Given the description of an element on the screen output the (x, y) to click on. 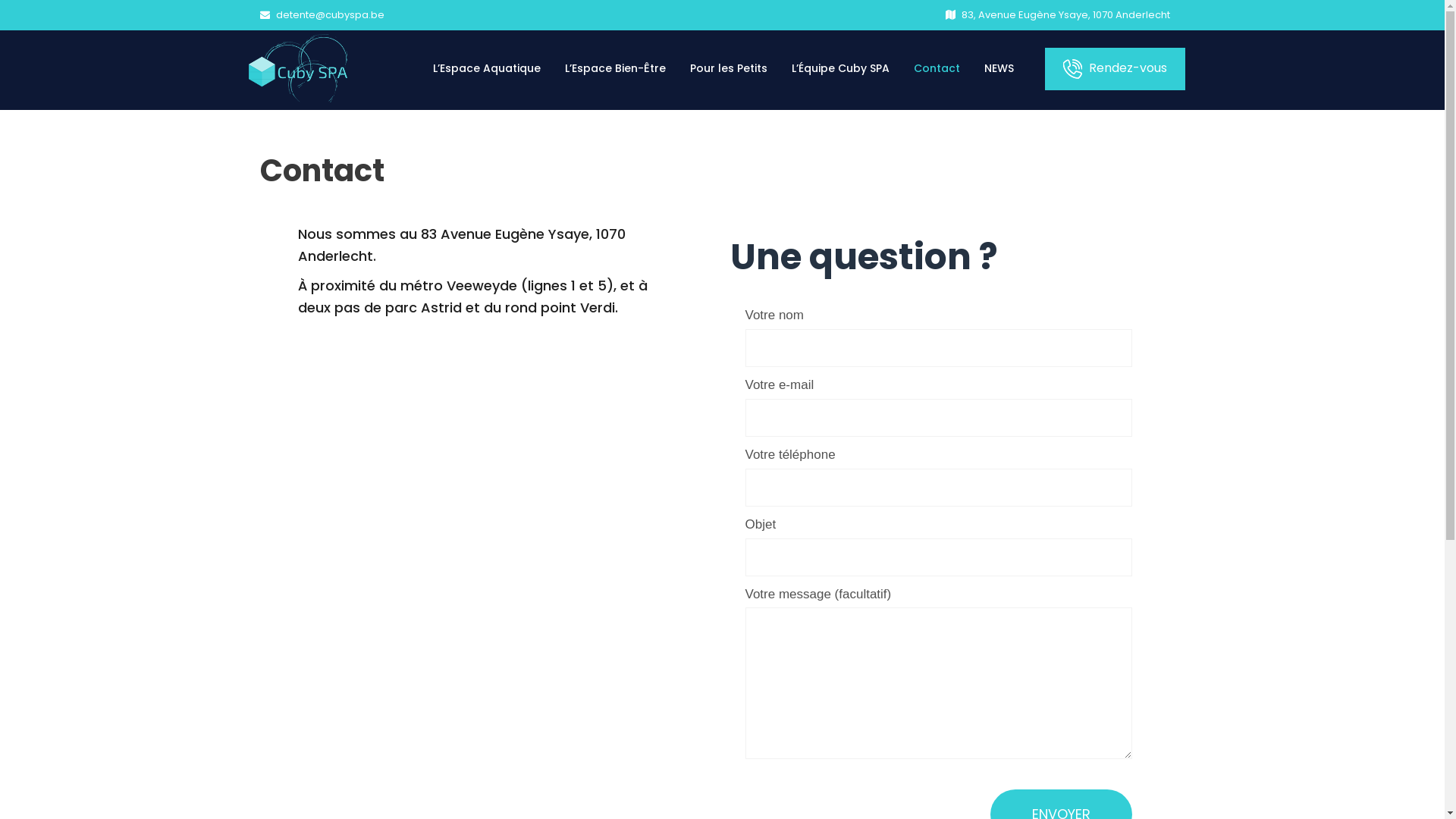
Cubyspa Element type: hover (297, 68)
Rendez-vous Element type: text (1114, 68)
NEWS Element type: text (999, 65)
Pour les Petits Element type: text (728, 65)
%3$s Element type: hover (486, 544)
Contact Element type: text (935, 65)
